Given the description of an element on the screen output the (x, y) to click on. 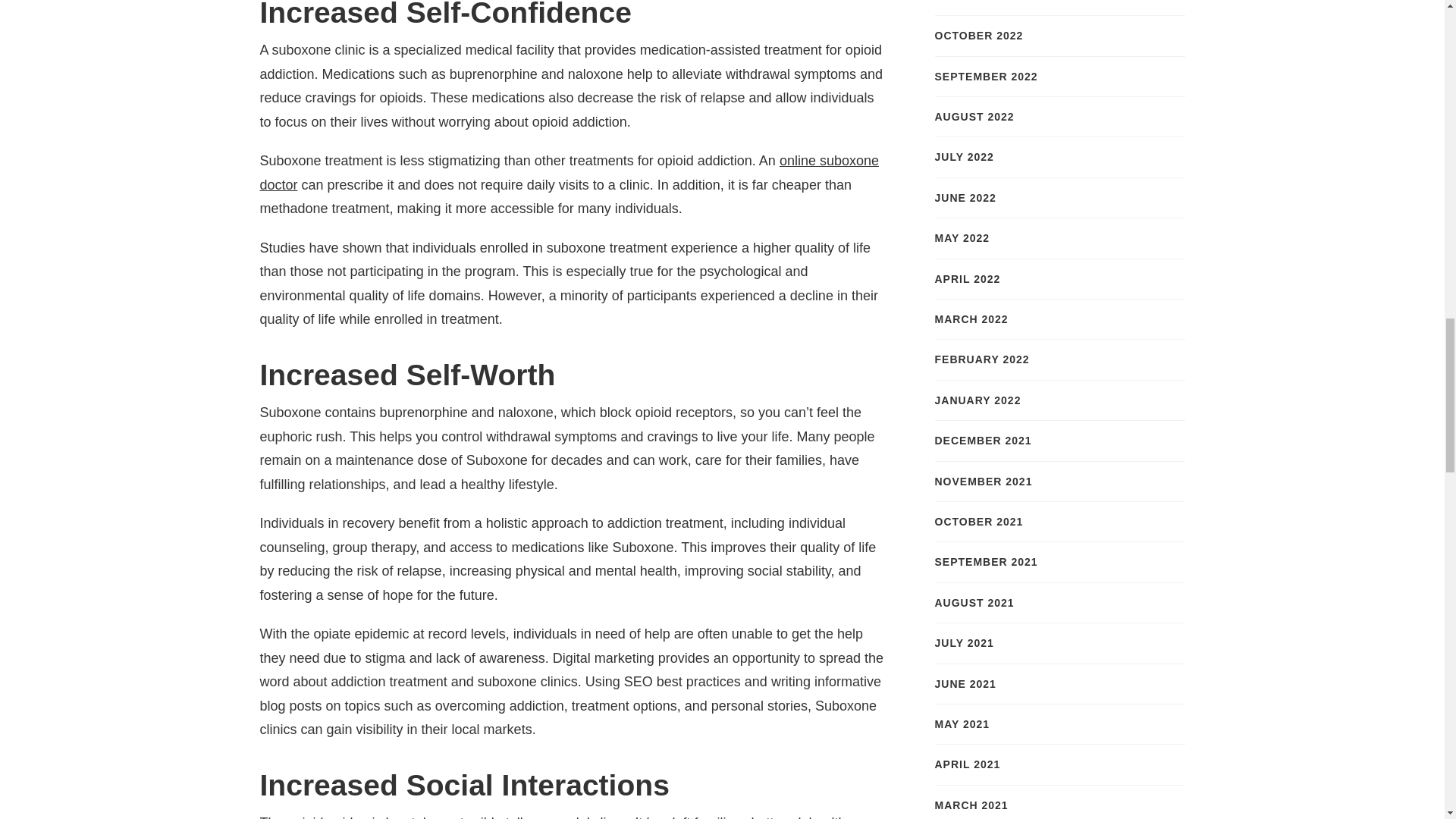
online suboxone doctor (569, 172)
